Given the description of an element on the screen output the (x, y) to click on. 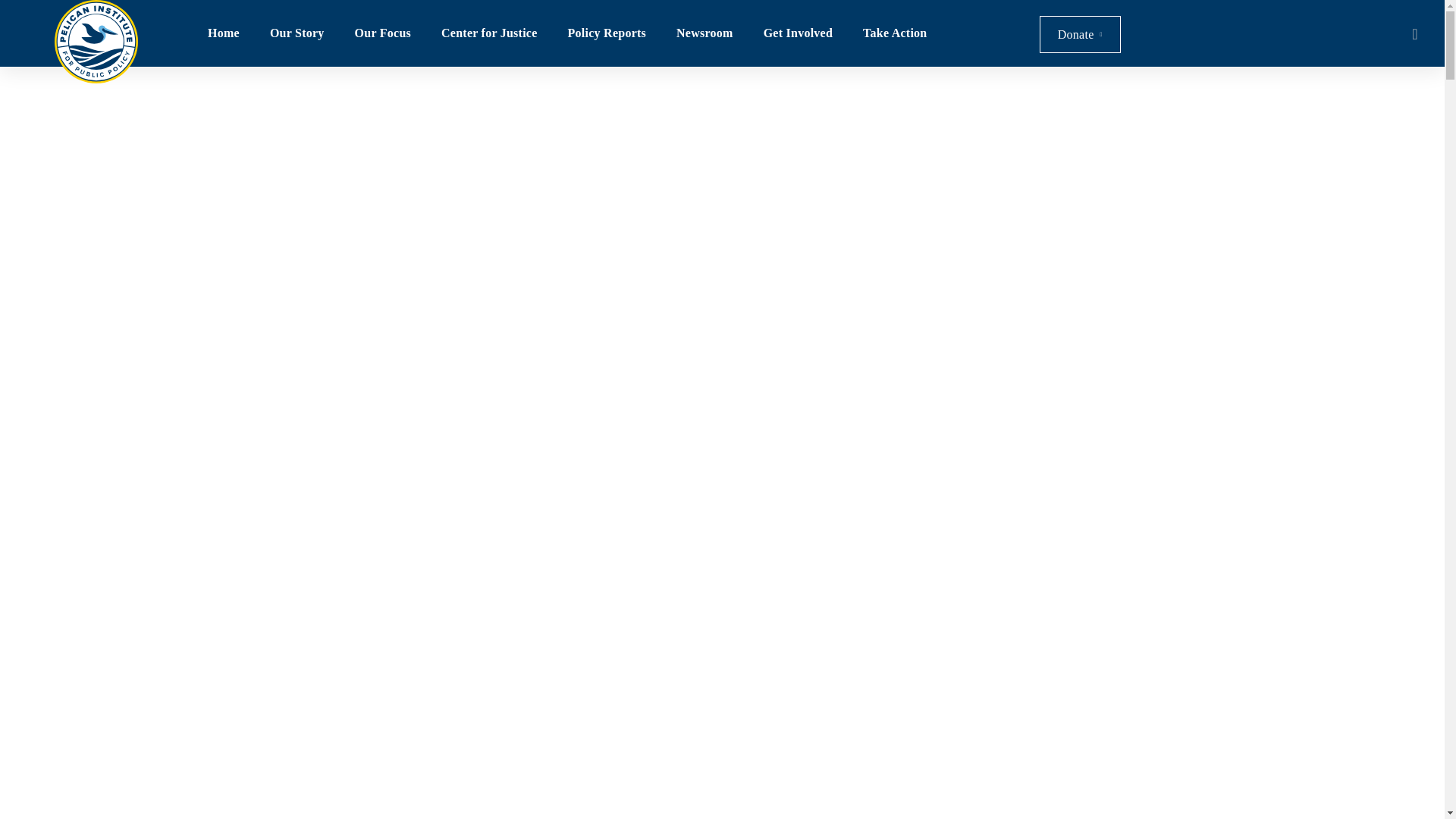
Pelican Policy (96, 41)
